Given the description of an element on the screen output the (x, y) to click on. 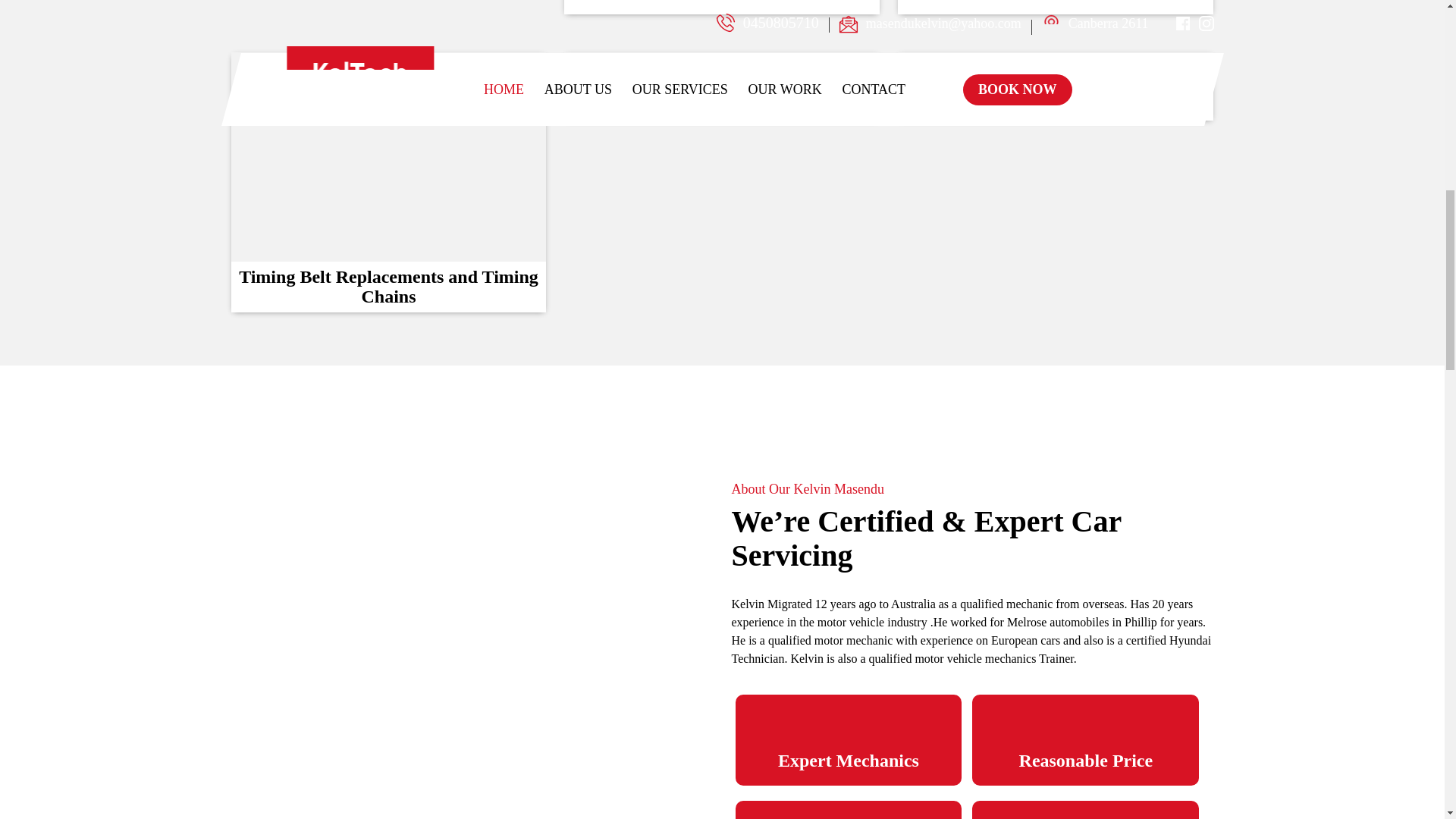
Clutch Repairs (1055, 6)
Transmission Servicing (721, 6)
Pre Rego Checks (1055, 86)
Timing Belt Replacements and Timing Chains (388, 182)
Brake Repairs and Inspections (721, 86)
